Given the description of an element on the screen output the (x, y) to click on. 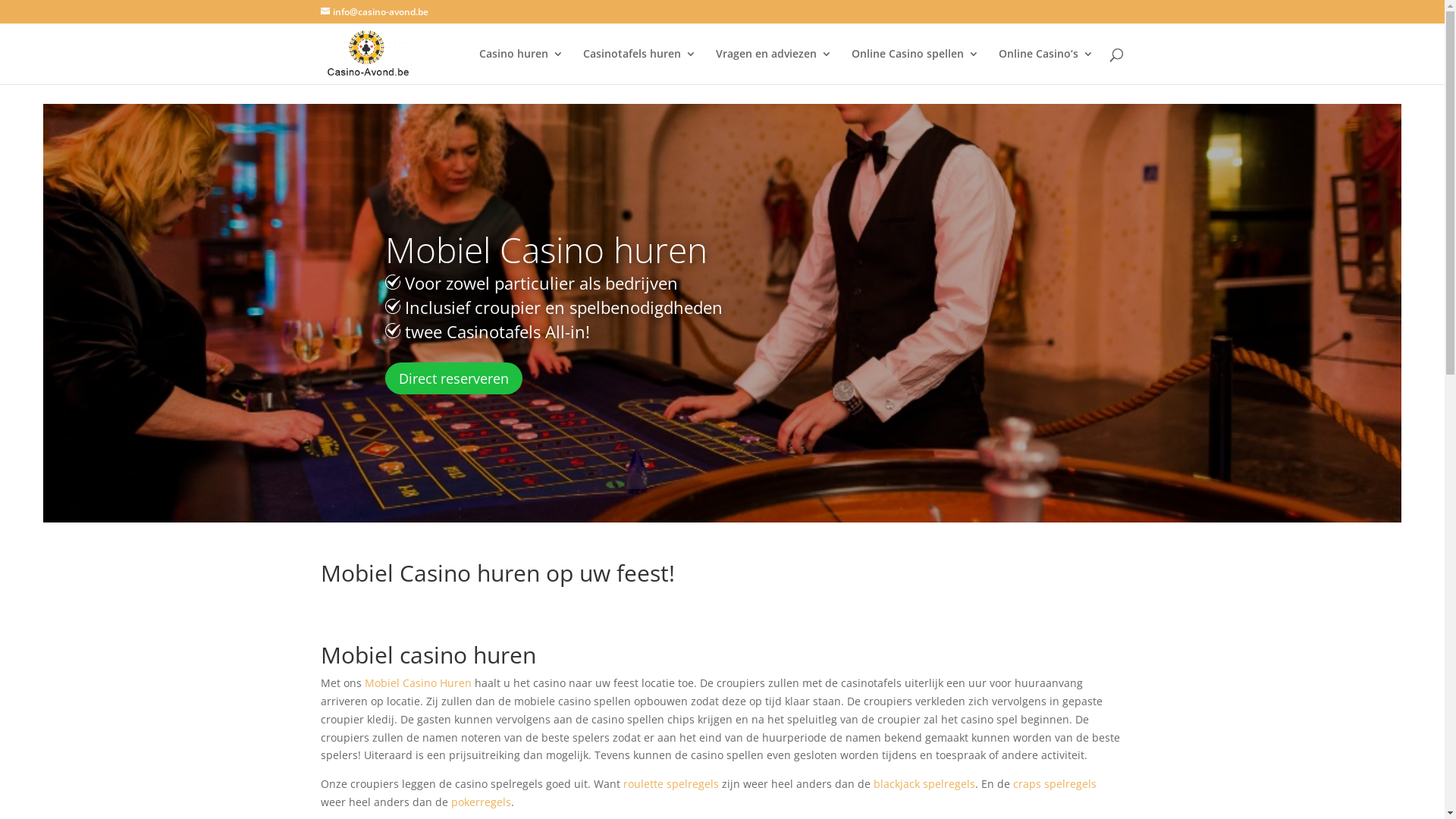
craps spelregels Element type: text (1054, 783)
Mobiel Casino huren Element type: text (546, 249)
roulette spelregels Element type: text (670, 783)
Mobiel Casino Huren Element type: text (417, 682)
info@casino-avond.be Element type: text (374, 11)
Direct reserveren Element type: text (453, 377)
Casino huren Element type: text (521, 66)
Casinotafels huren Element type: text (639, 66)
pokerregels Element type: text (481, 801)
Online Casino spellen Element type: text (915, 66)
blackjack spelregels Element type: text (922, 783)
Vragen en adviezen Element type: text (773, 66)
